Given the description of an element on the screen output the (x, y) to click on. 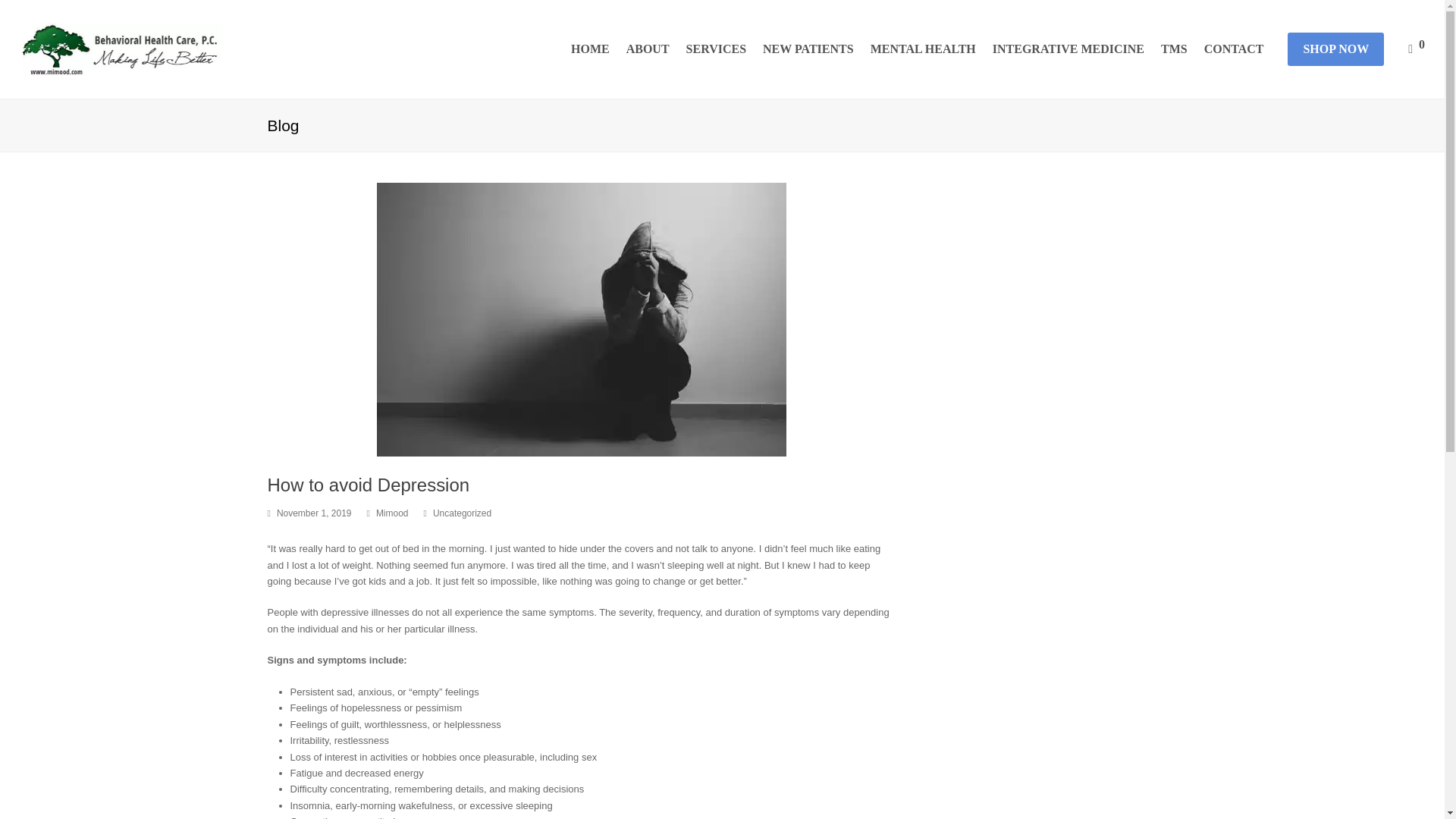
Uncategorized (462, 512)
Behavioral Health Care, P.C. (122, 48)
NEW PATIENTS (807, 48)
SERVICES (716, 48)
ABOUT (647, 48)
SHOP NOW (1335, 48)
Mimood (392, 512)
TMS (1174, 48)
Posts by Mimood (392, 512)
HOME (589, 48)
